Given the description of an element on the screen output the (x, y) to click on. 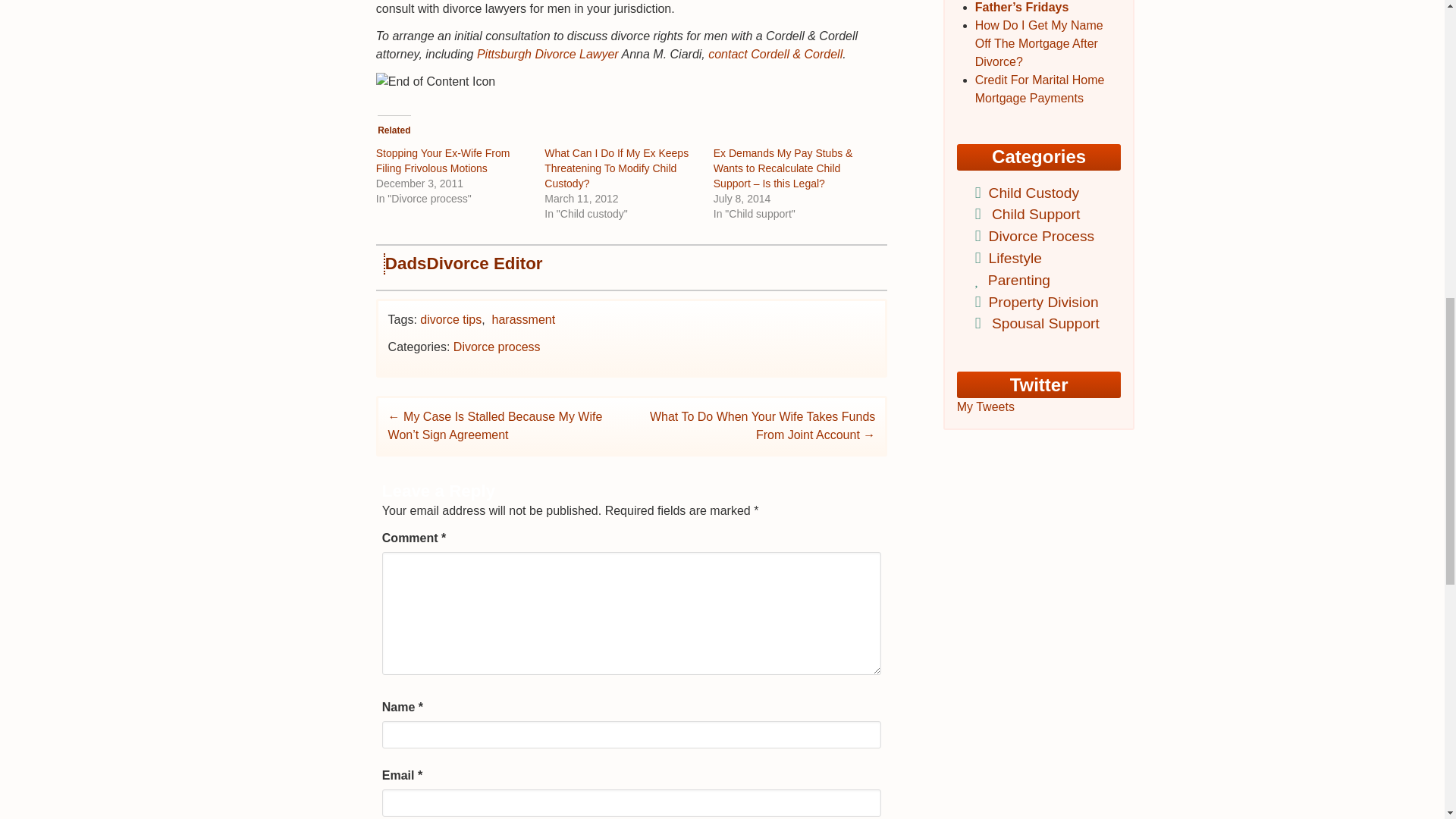
DadsDivorce Editor (464, 262)
divorce tips (450, 318)
Divorce process (496, 346)
Pittsburgh Divorce Lawyer (547, 53)
Stopping Your Ex-Wife From Filing Frivolous Motions (443, 160)
Stopping Your Ex-Wife From Filing Frivolous Motions (443, 160)
All posts by DadsDivorce Editor (464, 262)
Pittsburgh divorce lawyer (547, 53)
